Given the description of an element on the screen output the (x, y) to click on. 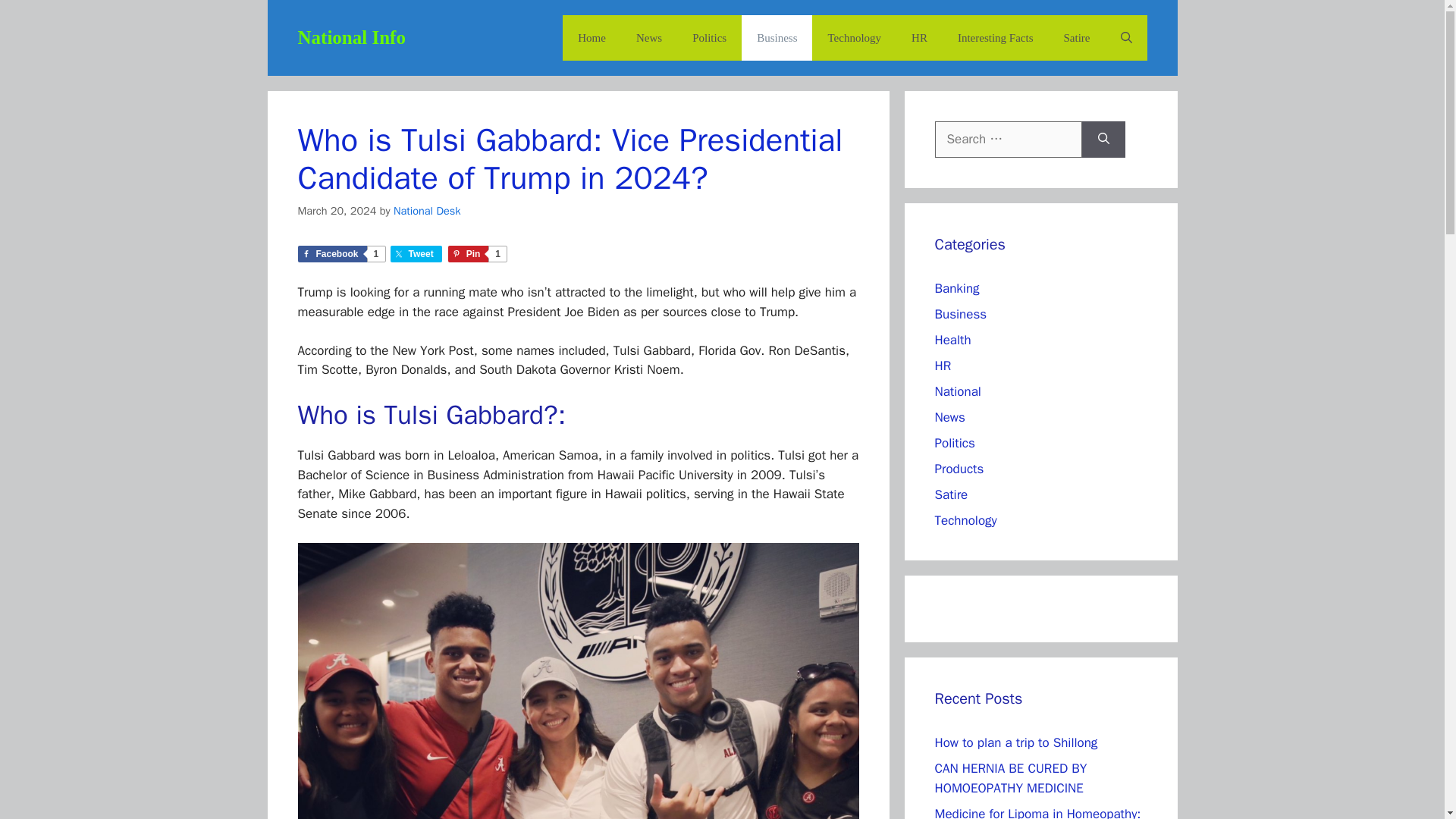
National Desk (427, 210)
Search for: (1007, 139)
Technology (964, 520)
Interesting Facts (995, 37)
Share on Twitter (416, 253)
Politics (954, 442)
Home (591, 37)
National Info (350, 37)
Medicine for Lipoma in Homeopathy: Best available options (1037, 812)
CAN HERNIA BE CURED BY HOMOEOPATHY MEDICINE (1010, 778)
Satire (1076, 37)
Satire (951, 494)
HR (942, 365)
Tweet (416, 253)
